Given the description of an element on the screen output the (x, y) to click on. 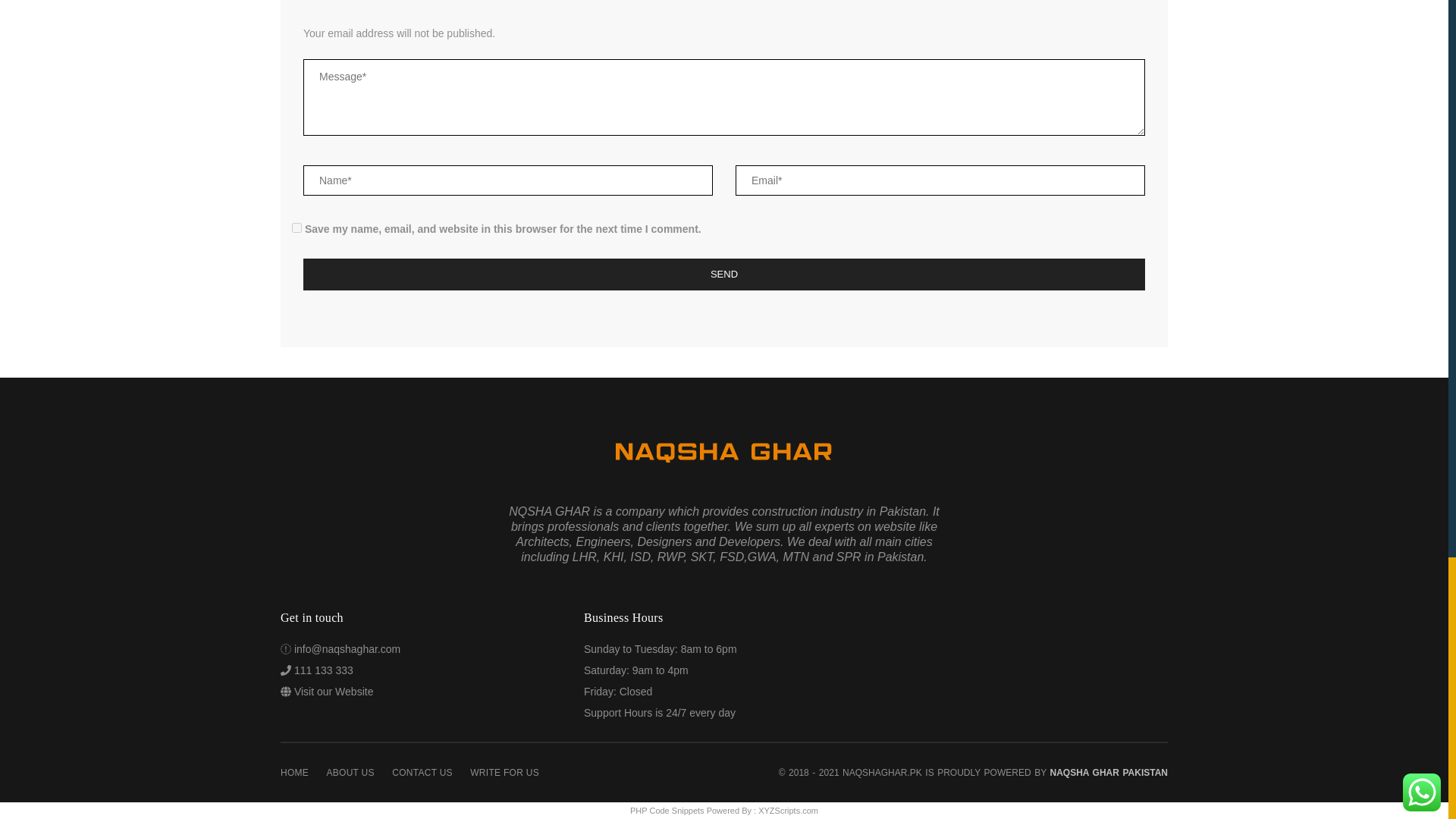
Send (723, 274)
ABOUT US (350, 772)
Send (723, 274)
Insert PHP Snippet Wordpress Plugin (667, 809)
yes (296, 227)
HOME (294, 772)
Visit our Website (334, 691)
